Given the description of an element on the screen output the (x, y) to click on. 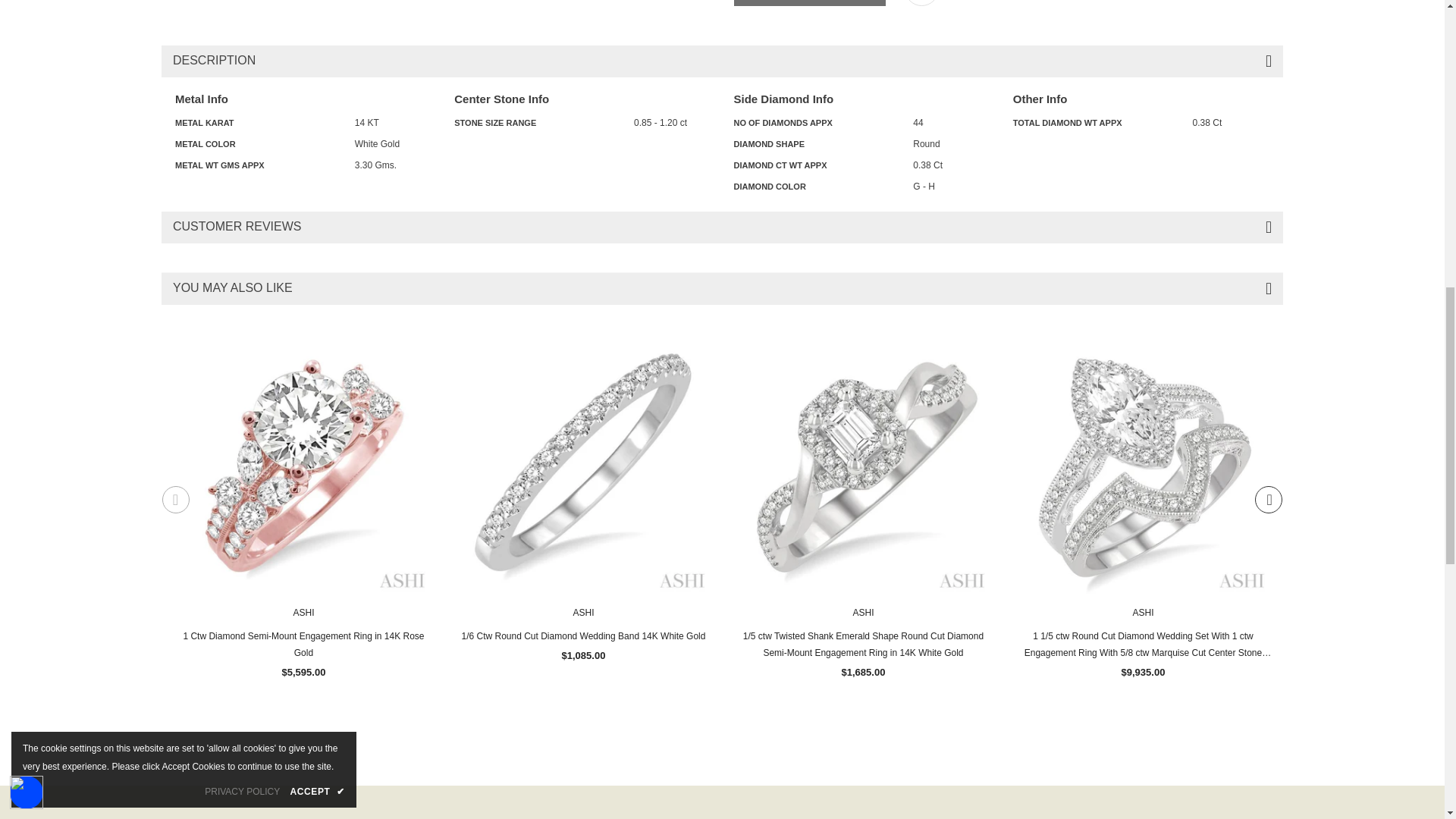
Add to Bag (809, 2)
